Given the description of an element on the screen output the (x, y) to click on. 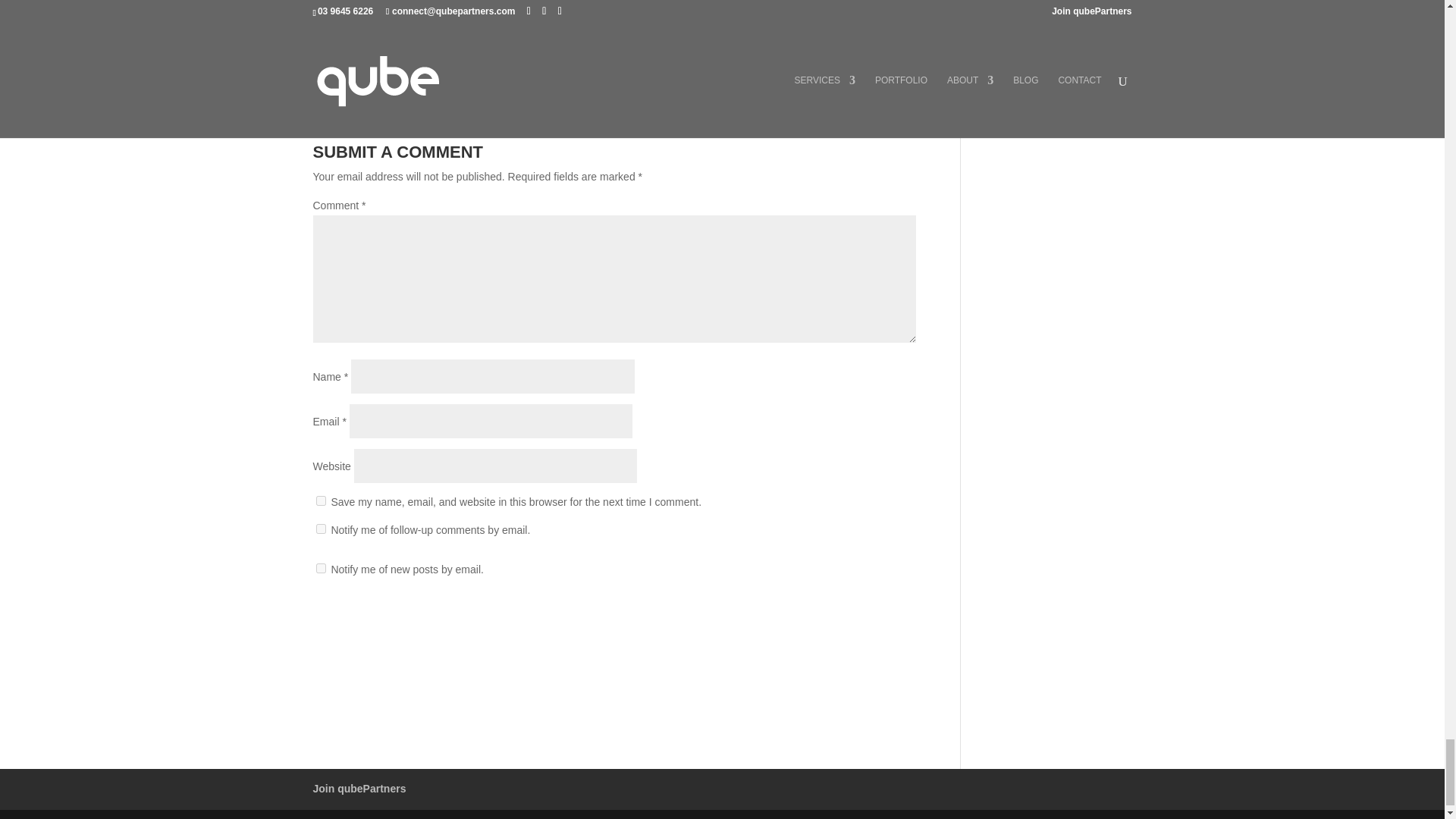
yes (319, 501)
contact us today for a no obligation consultation. (596, 37)
Submit Comment (840, 619)
subscribe (319, 528)
subscribe (319, 568)
